Given the description of an element on the screen output the (x, y) to click on. 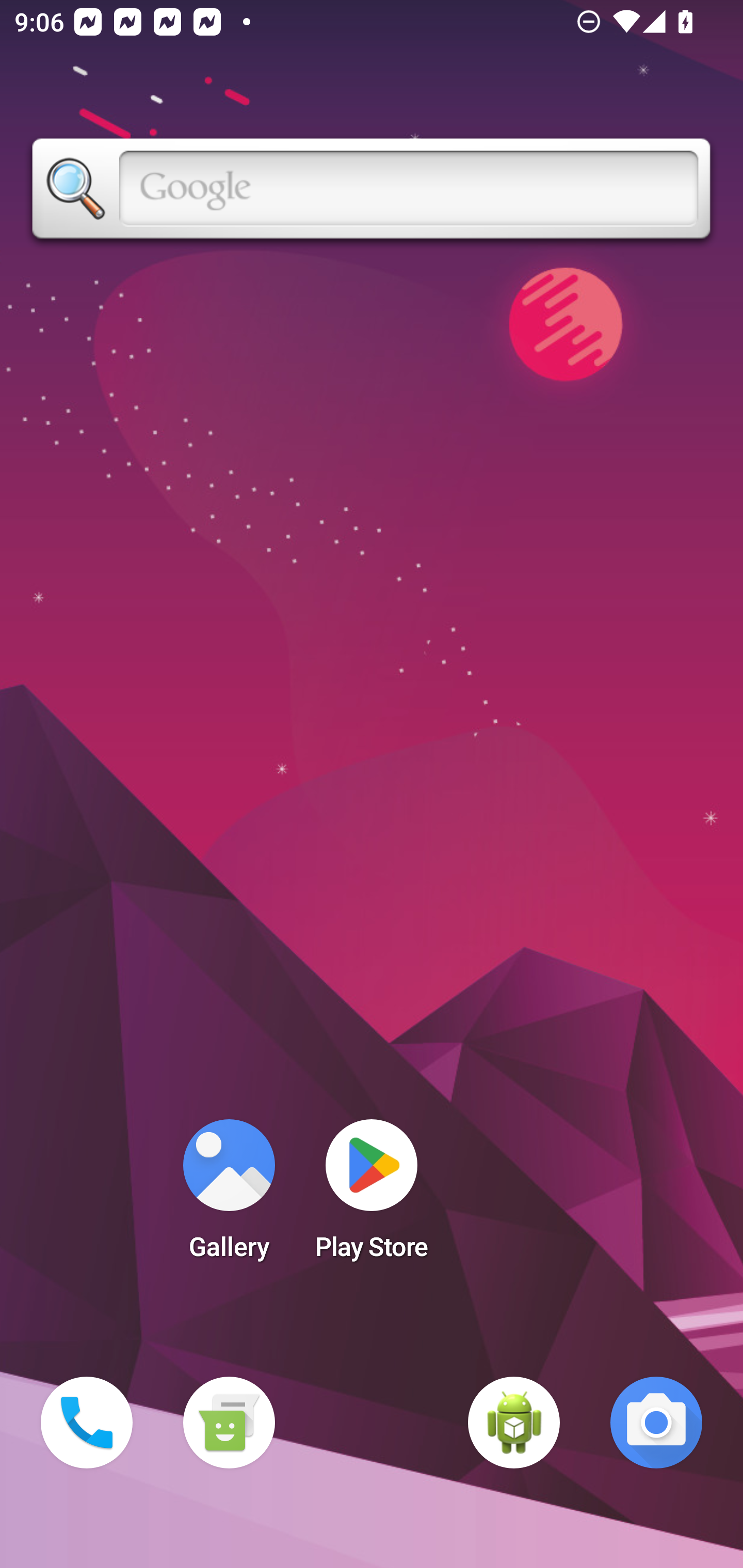
Gallery (228, 1195)
Play Store (371, 1195)
Phone (86, 1422)
Messaging (228, 1422)
WebView Browser Tester (513, 1422)
Camera (656, 1422)
